Given the description of an element on the screen output the (x, y) to click on. 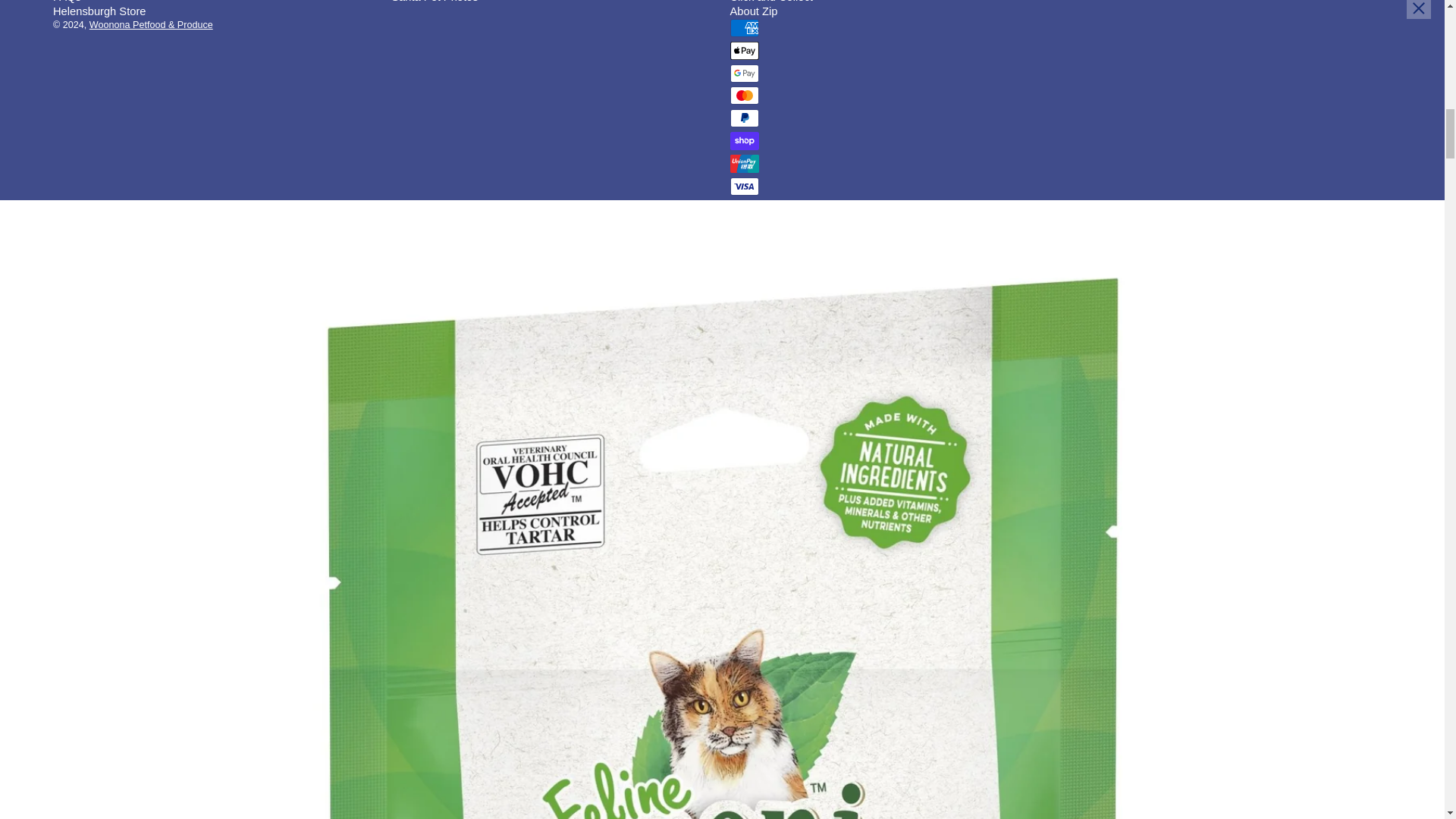
PayPal (743, 117)
Visa (743, 186)
Google Pay (743, 73)
Apple Pay (743, 50)
Mastercard (743, 95)
American Express (743, 27)
Union Pay (743, 163)
Shop Pay (743, 140)
